Given the description of an element on the screen output the (x, y) to click on. 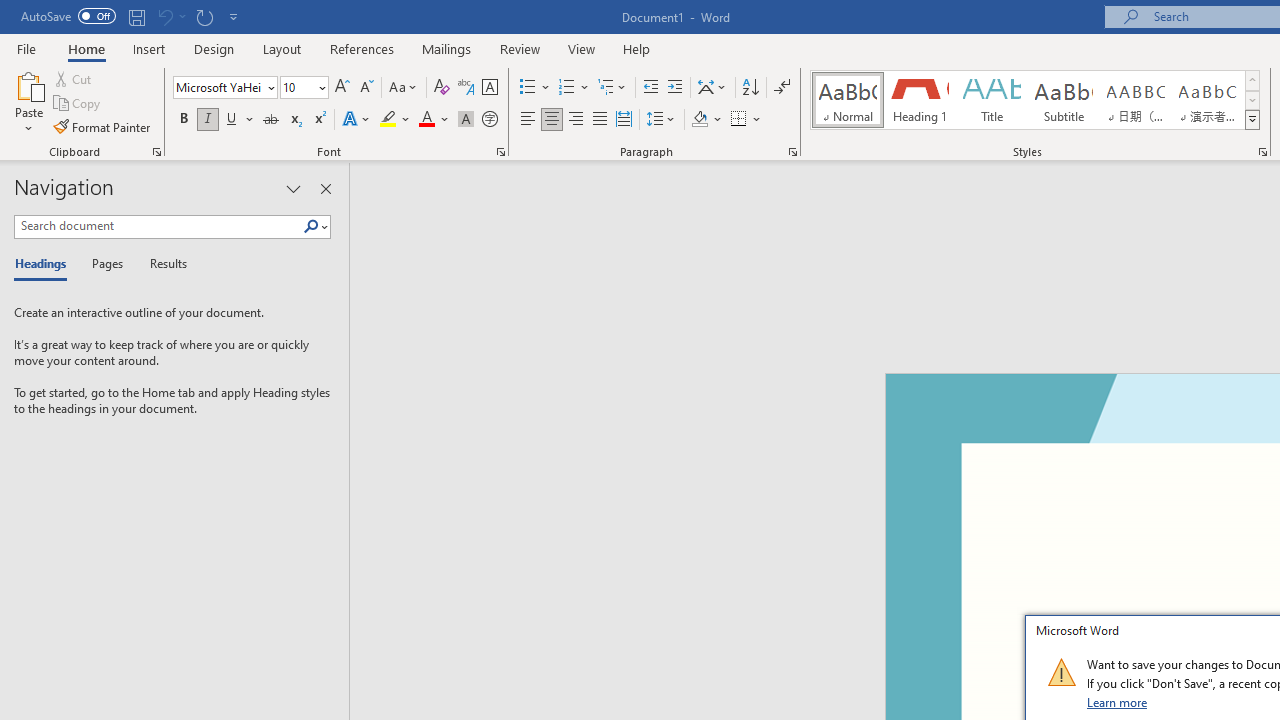
Can't Undo (164, 15)
